Given the description of an element on the screen output the (x, y) to click on. 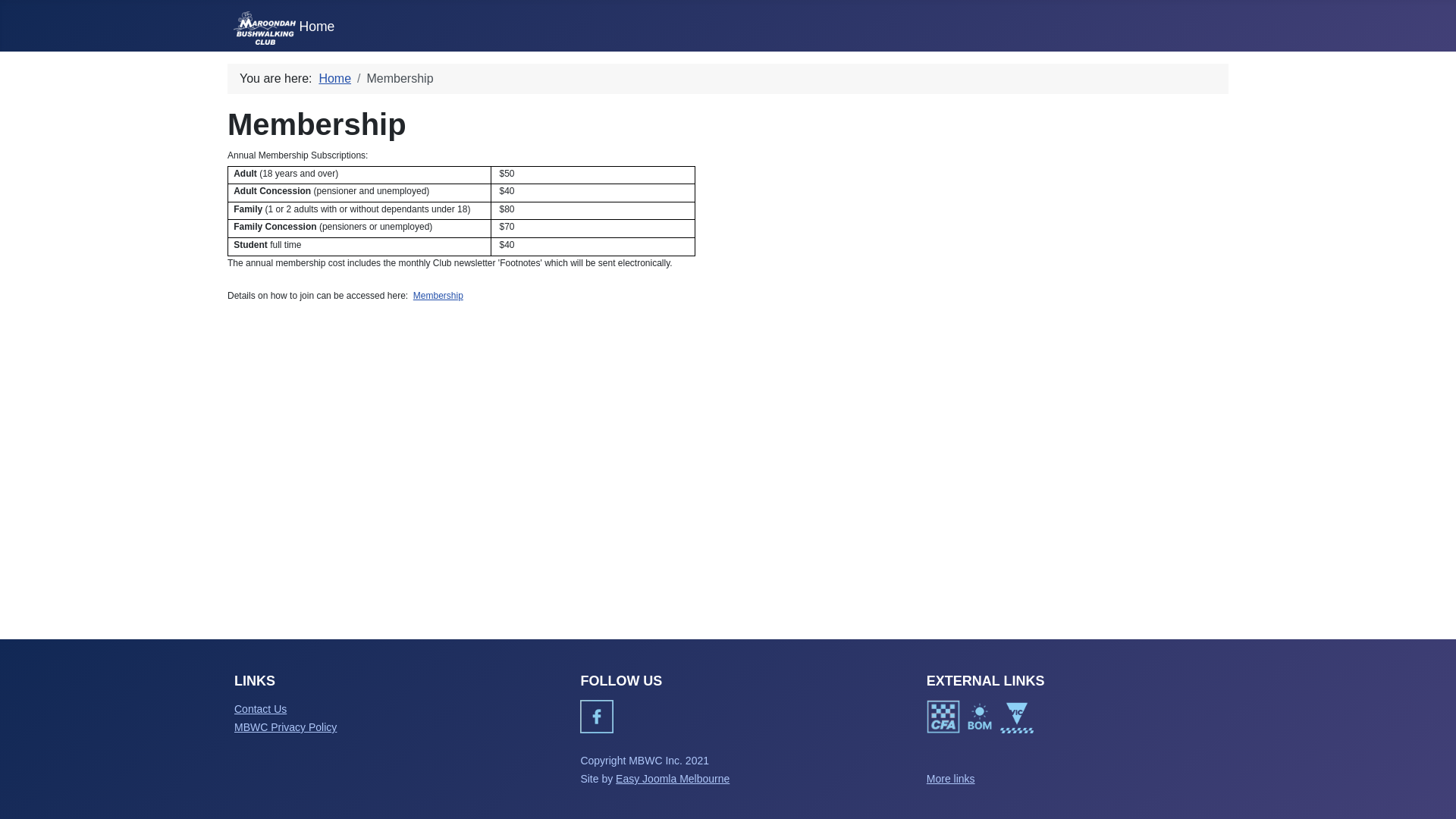
Contact Us Element type: text (260, 708)
Membership Element type: text (438, 295)
MBWC Privacy Policy Element type: text (285, 727)
 Home Element type: text (283, 26)
Facebook Element type: hover (596, 716)
Planned Burns Element type: hover (1016, 716)
CFA Total Fire Bans Element type: hover (943, 716)
Home Element type: text (334, 78)
Easy Joomla Melbourne Element type: text (672, 778)
More links Element type: text (950, 778)
BOM Forecasts Element type: hover (979, 716)
